Given the description of an element on the screen output the (x, y) to click on. 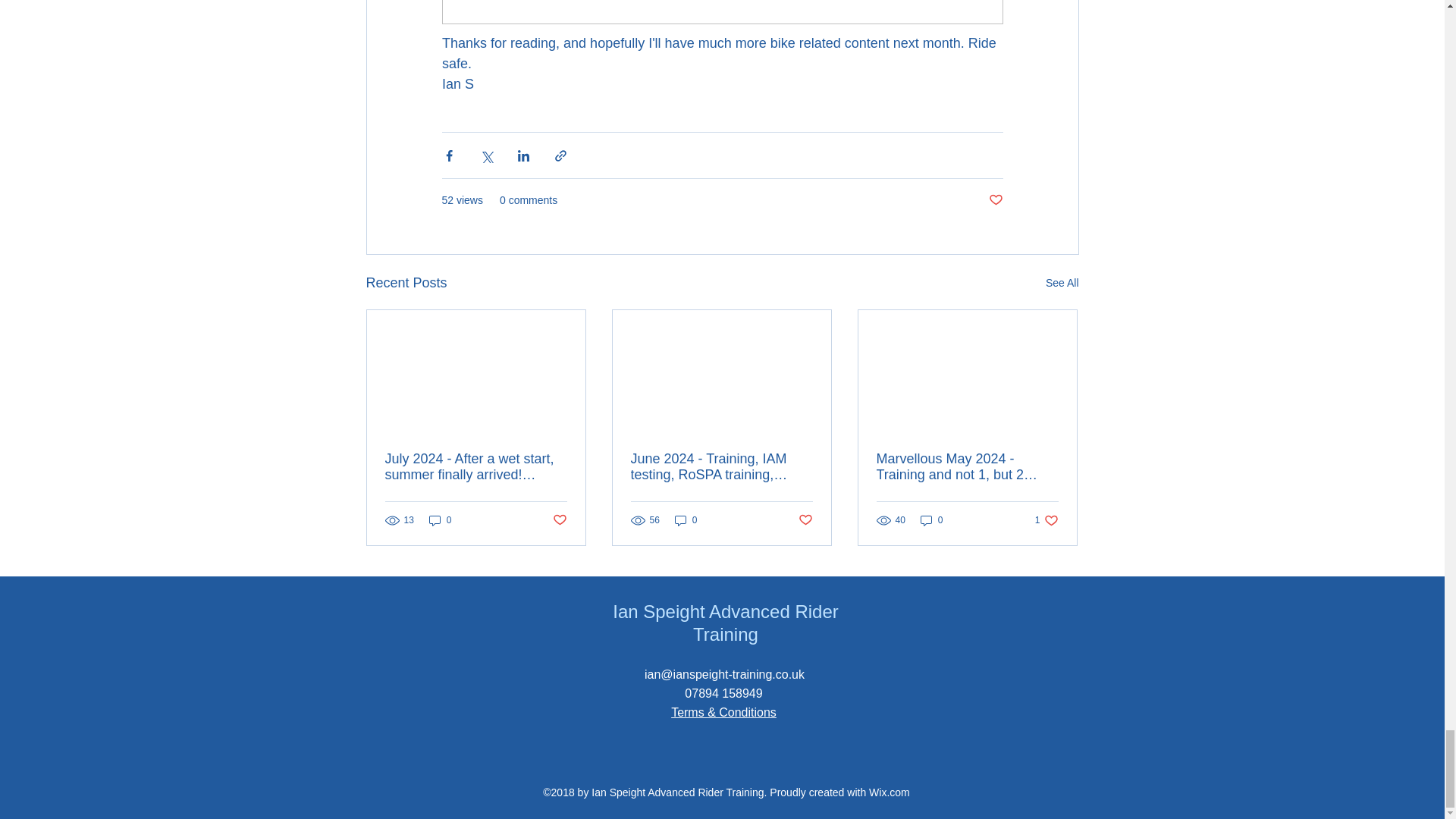
Post not marked as liked (804, 520)
0 (440, 520)
0 (685, 520)
Post not marked as liked (995, 200)
0 (931, 520)
See All (1046, 520)
